Given the description of an element on the screen output the (x, y) to click on. 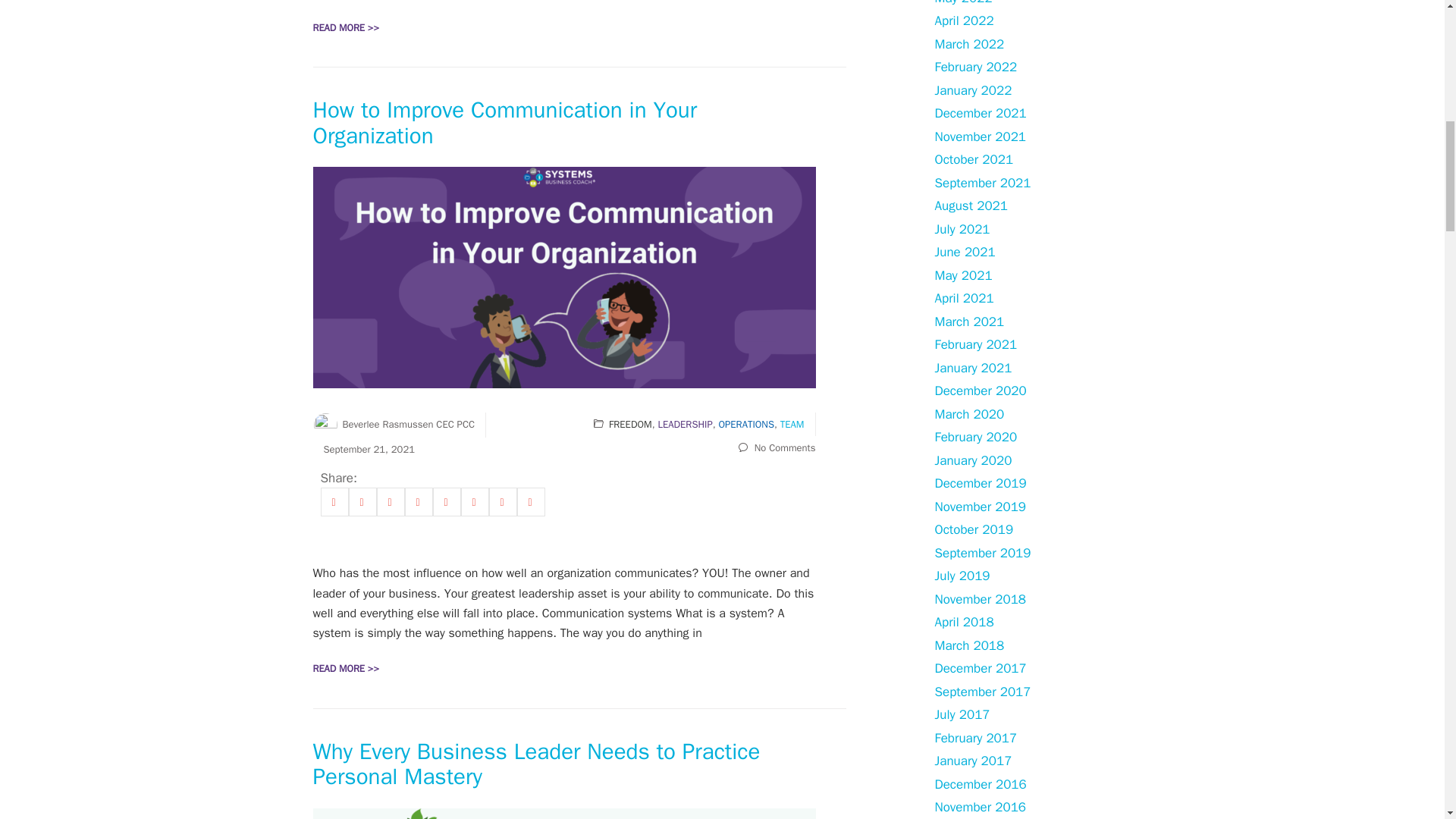
Scroll back to top (1406, 720)
